Given the description of an element on the screen output the (x, y) to click on. 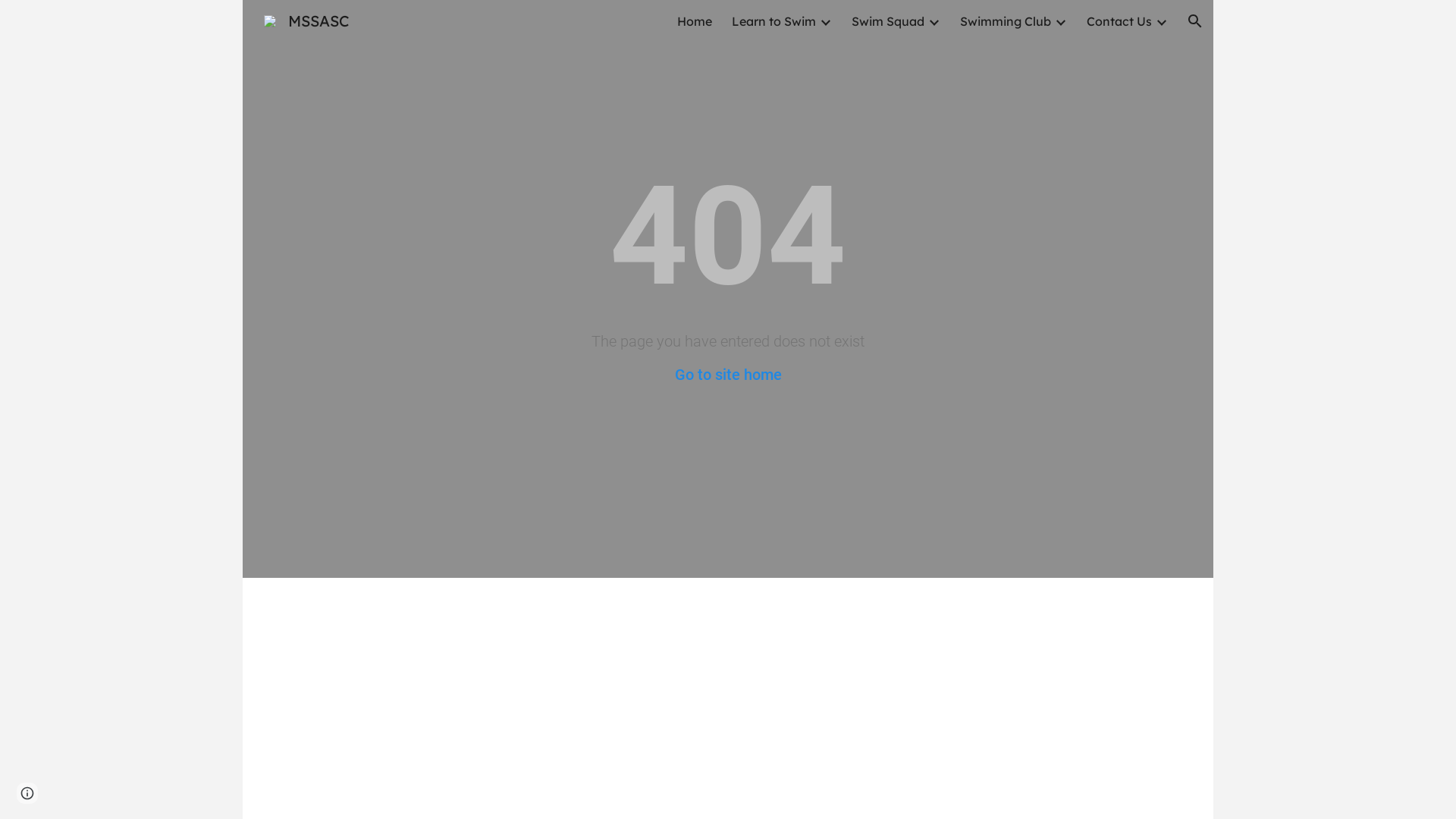
Go to site home Element type: text (727, 374)
Swimming Club Element type: text (1005, 20)
Expand/Collapse Element type: hover (824, 20)
Expand/Collapse Element type: hover (933, 20)
Contact Us Element type: text (1118, 20)
Home Element type: text (694, 20)
Expand/Collapse Element type: hover (1059, 20)
MSSASC Element type: text (306, 18)
Expand/Collapse Element type: hover (1160, 20)
Learn to Swim Element type: text (773, 20)
Swim Squad Element type: text (887, 20)
